Given the description of an element on the screen output the (x, y) to click on. 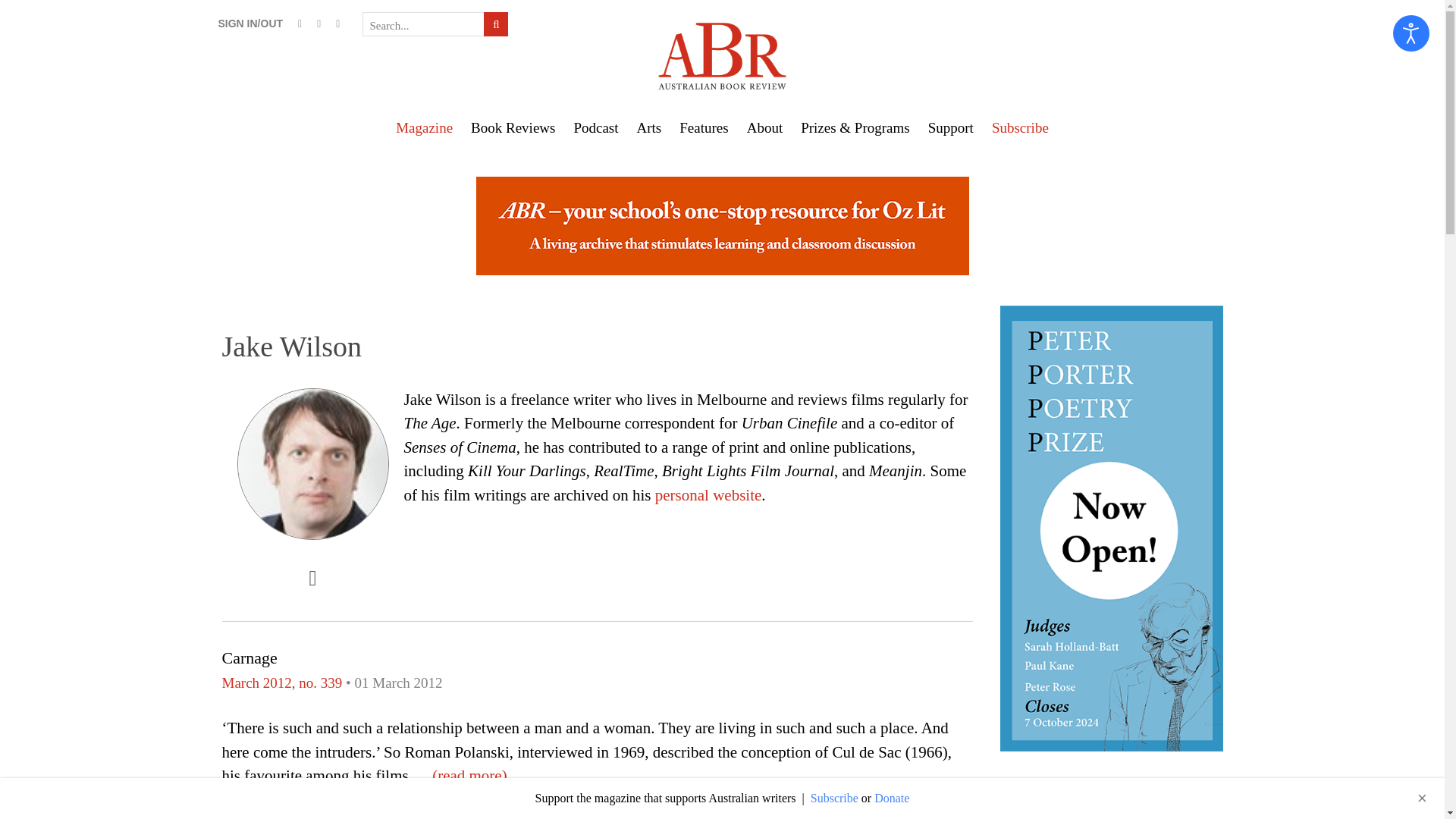
Book Reviews (512, 127)
Open accessibility tools (1411, 33)
Magazine (424, 127)
